Given the description of an element on the screen output the (x, y) to click on. 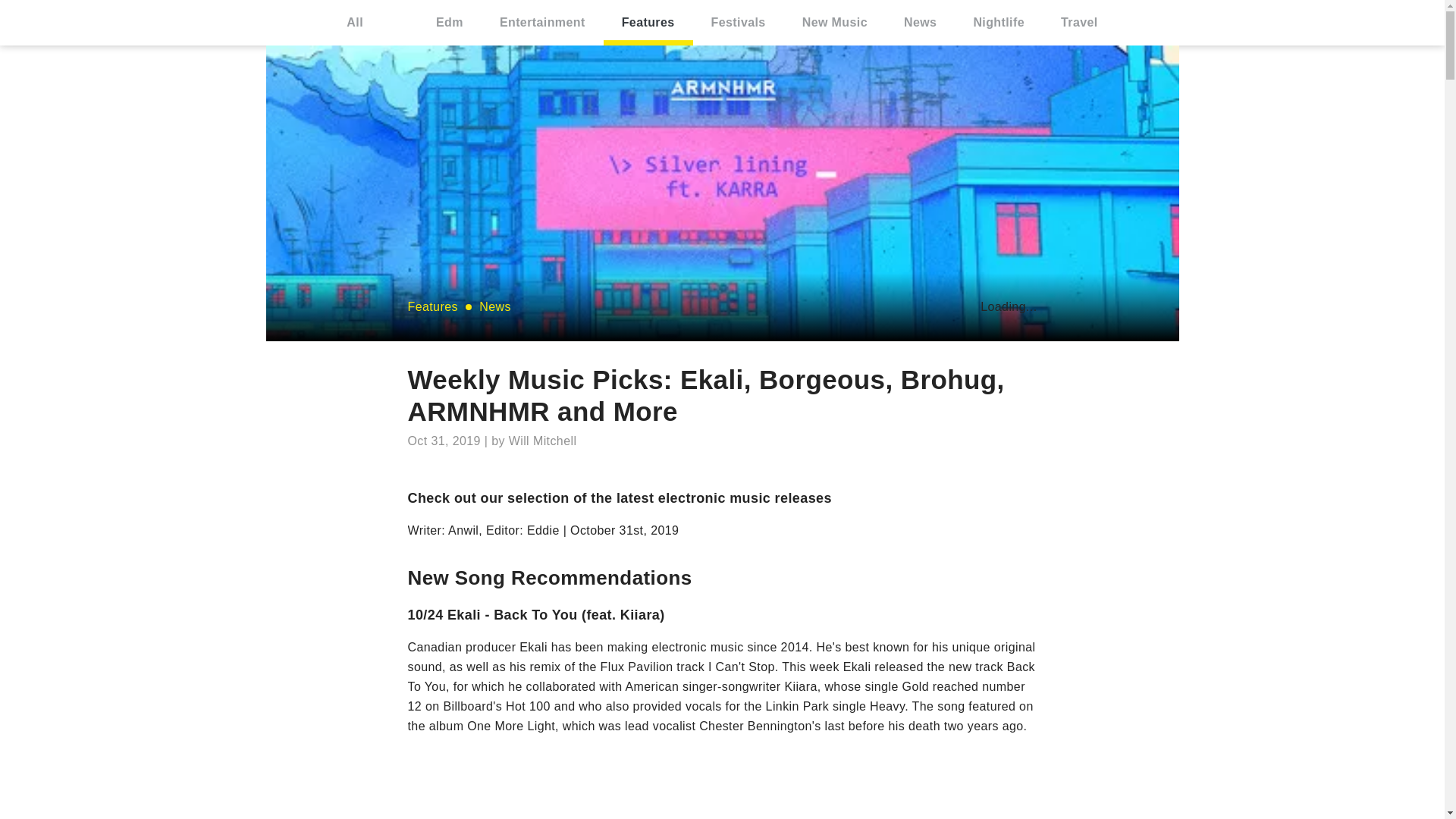
New Music (834, 22)
News (920, 22)
Nightlife (998, 22)
Festivals (738, 22)
Edm (449, 22)
Travel (1079, 22)
Entertainment (542, 22)
News (495, 306)
Features (648, 22)
All (355, 22)
